Given the description of an element on the screen output the (x, y) to click on. 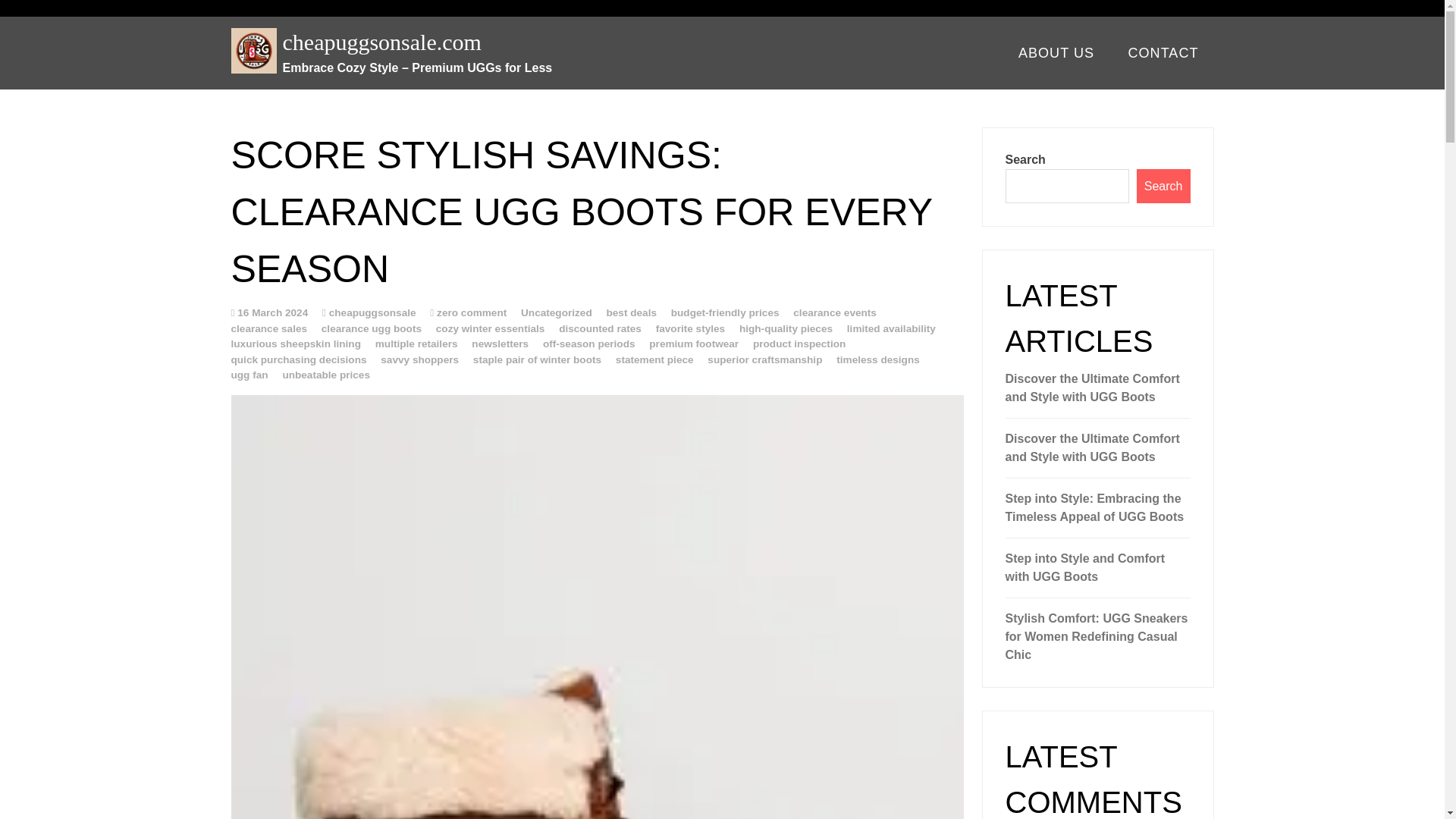
multiple retailers (416, 343)
cheapuggsonsale.com (642, 41)
luxurious sheepskin lining (294, 343)
ABOUT US (1056, 53)
savvy shoppers (419, 358)
off-season periods (588, 343)
clearance ugg boots (371, 328)
best deals (630, 312)
clearance sales (268, 328)
favorite styles (690, 328)
